Given the description of an element on the screen output the (x, y) to click on. 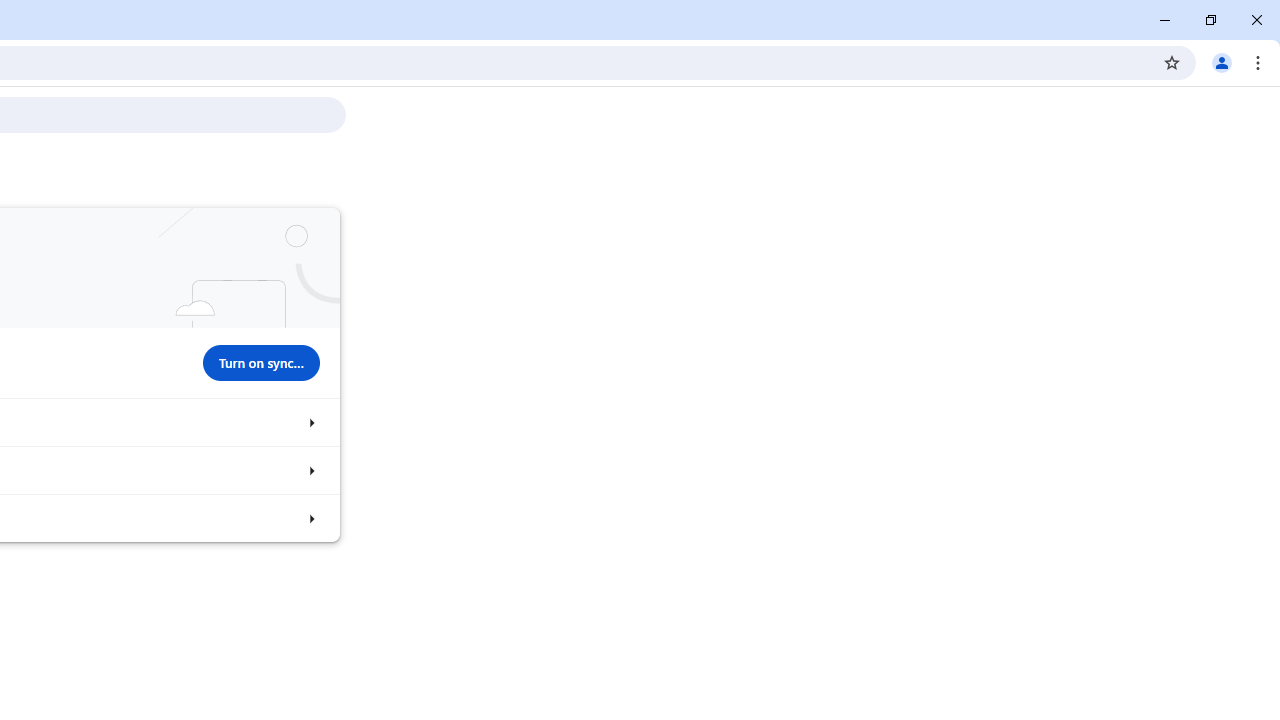
Customize your Chrome profile (310, 470)
Sync and Google services (310, 422)
Import bookmarks and settings (310, 517)
